Given the description of an element on the screen output the (x, y) to click on. 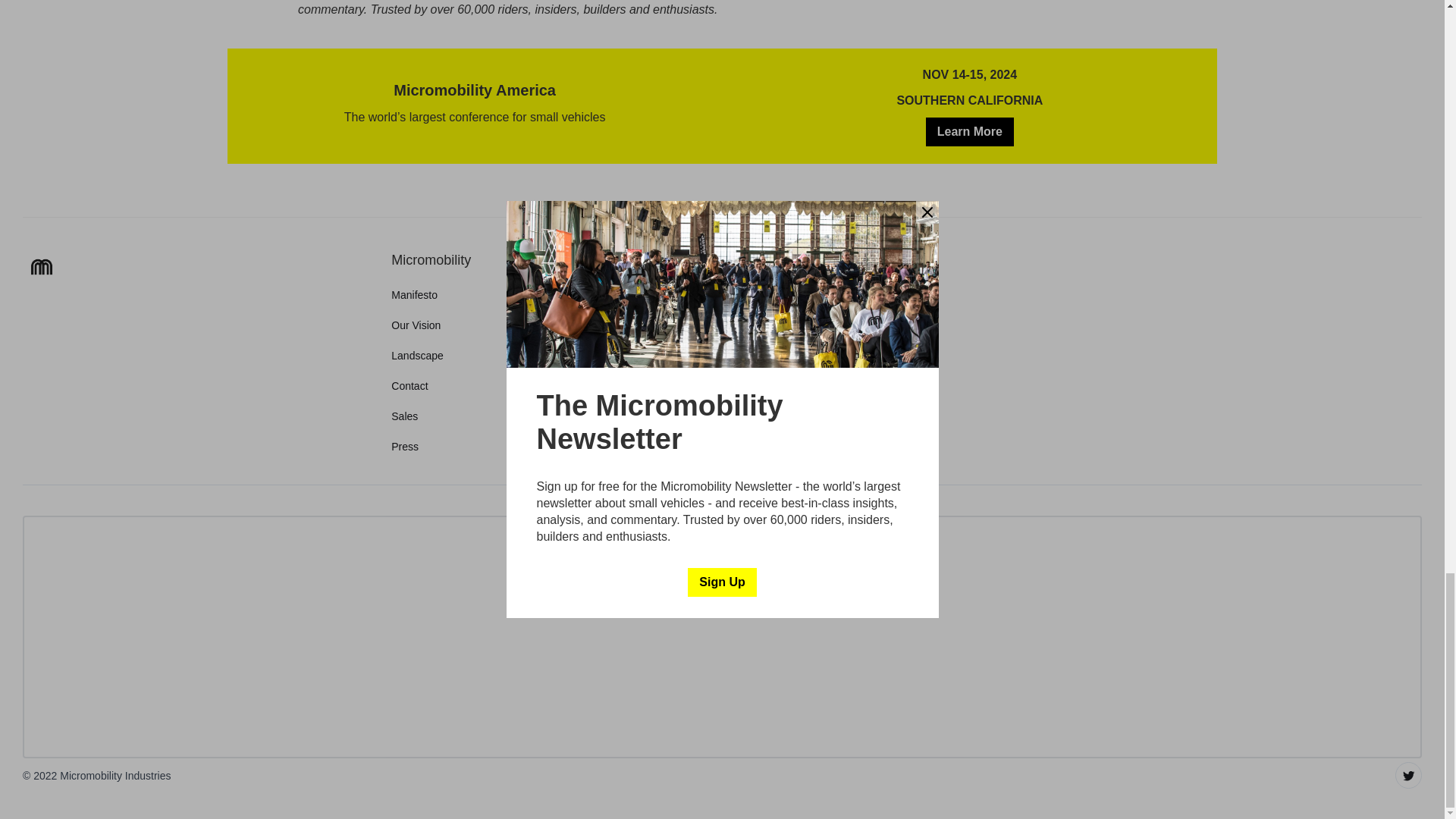
Video (815, 355)
Press (405, 446)
Newsletter (826, 324)
Contact (409, 385)
Landscape (417, 355)
Manifesto (414, 294)
Blog (813, 294)
Our Vision (416, 324)
Learn More (969, 131)
Webinars (824, 385)
Podcast (821, 416)
Sales (404, 416)
